Given the description of an element on the screen output the (x, y) to click on. 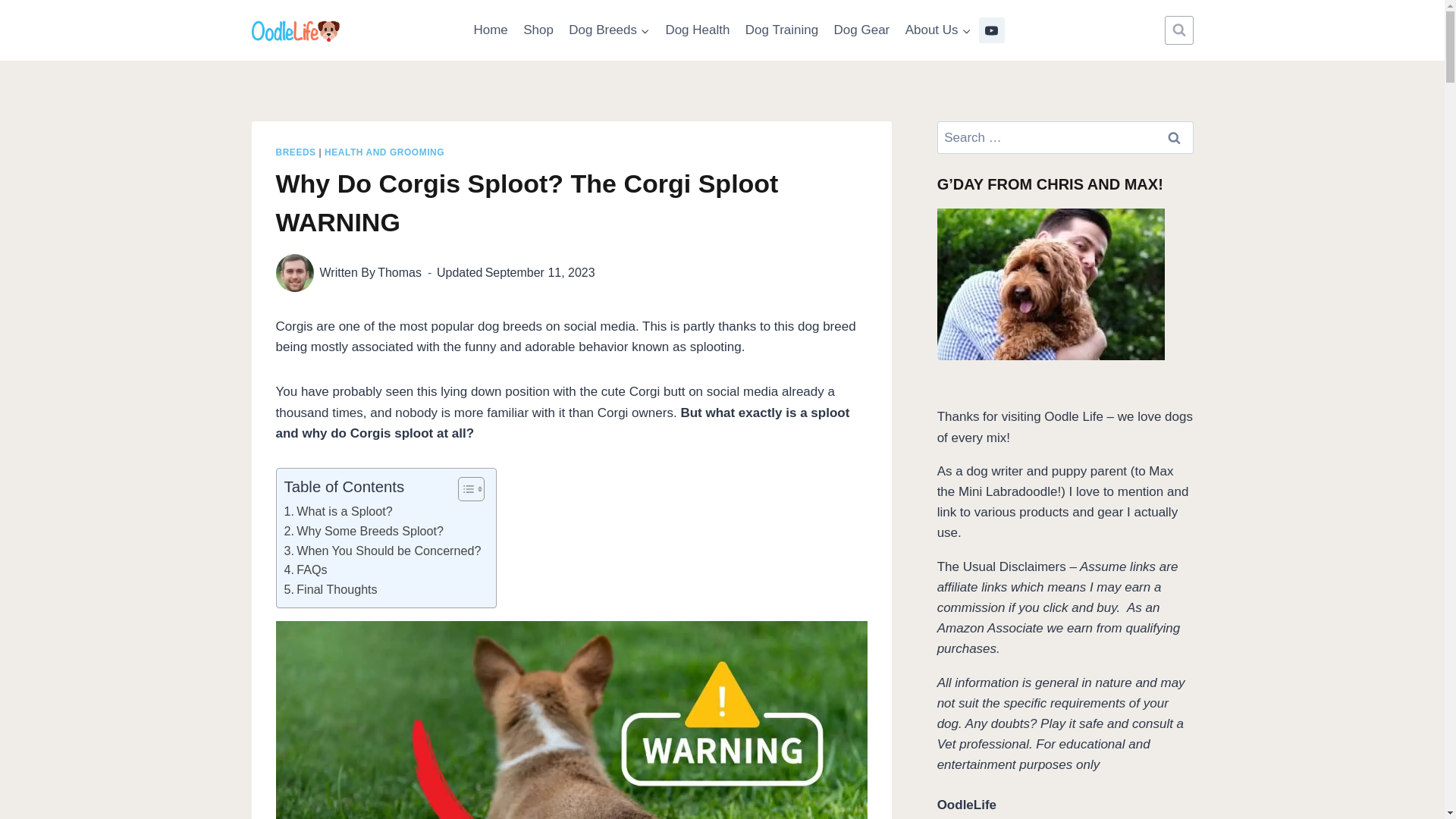
When You Should be Concerned? (381, 551)
FAQs (304, 569)
Final Thoughts (330, 589)
Search (1174, 137)
HEALTH AND GROOMING (384, 152)
When You Should be Concerned? (381, 551)
Why Some Breeds Sploot? (363, 531)
Dog Gear (860, 30)
BREEDS (295, 152)
FAQs (304, 569)
